Given the description of an element on the screen output the (x, y) to click on. 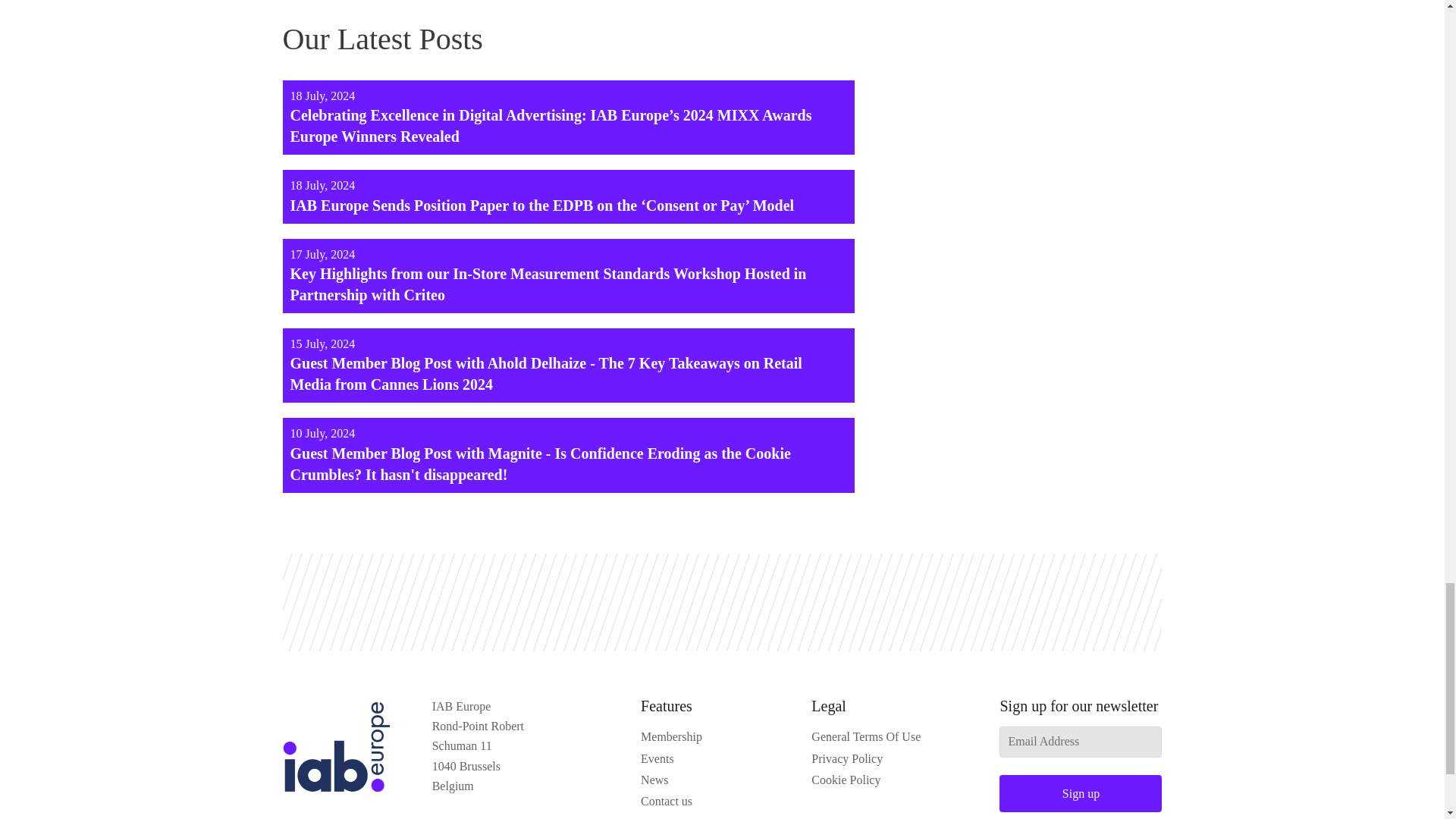
Sign up (1079, 793)
